Given the description of an element on the screen output the (x, y) to click on. 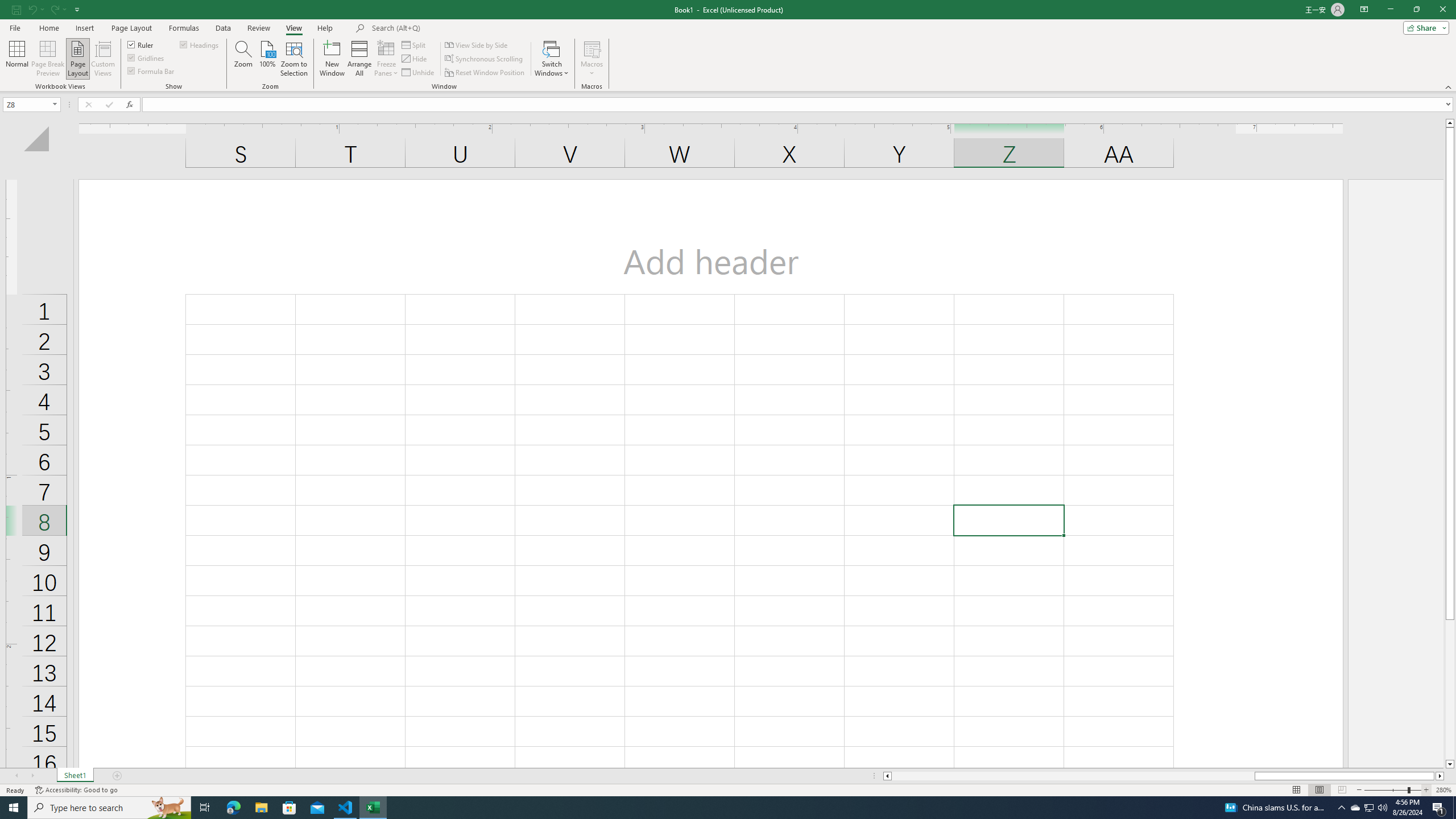
Freeze Panes (386, 58)
Ruler (141, 44)
View Side by Side (476, 44)
Unhide... (419, 72)
Arrange All (359, 58)
Reset Window Position (485, 72)
